Given the description of an element on the screen output the (x, y) to click on. 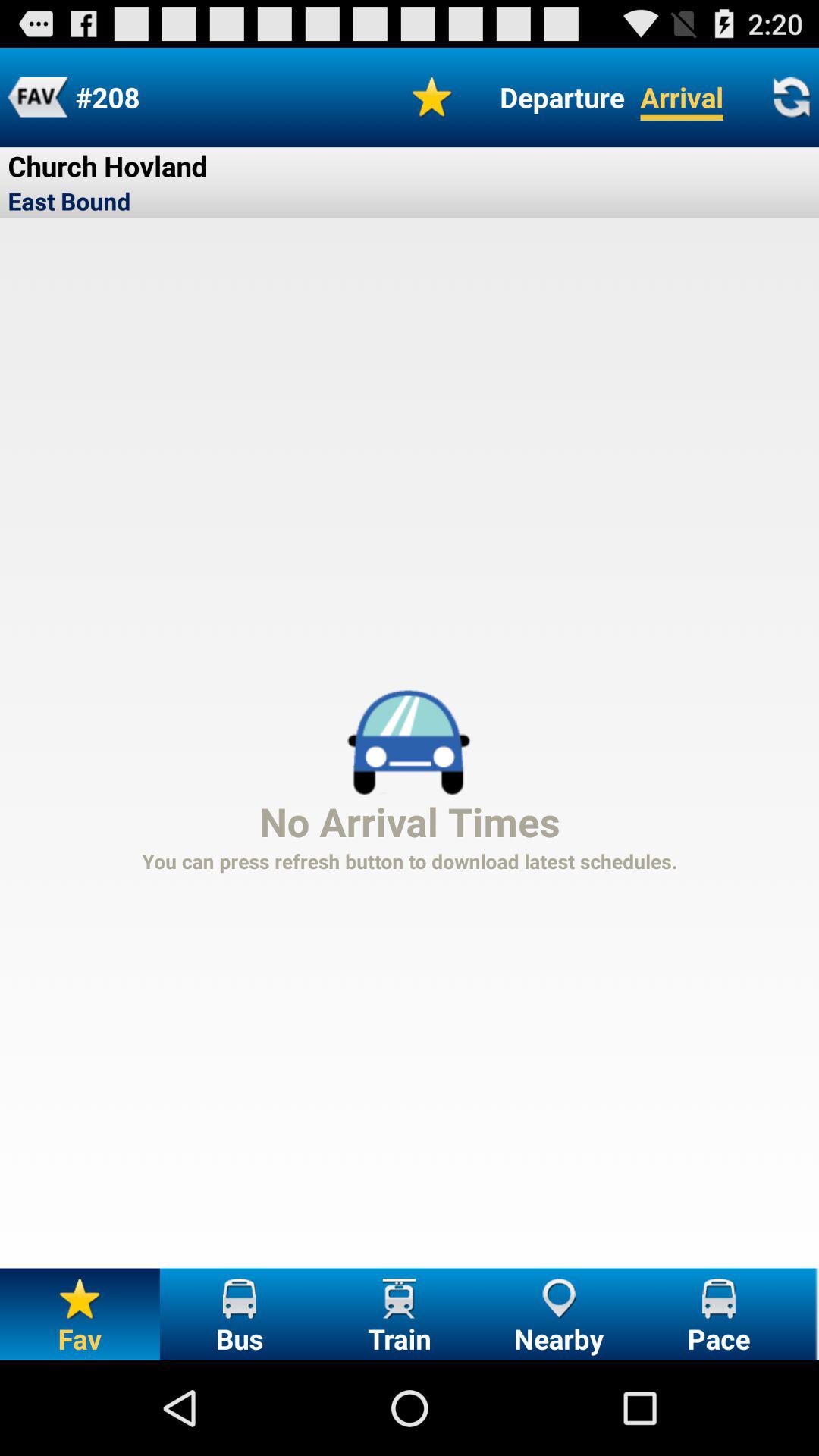
click button next to arrival (561, 97)
